Given the description of an element on the screen output the (x, y) to click on. 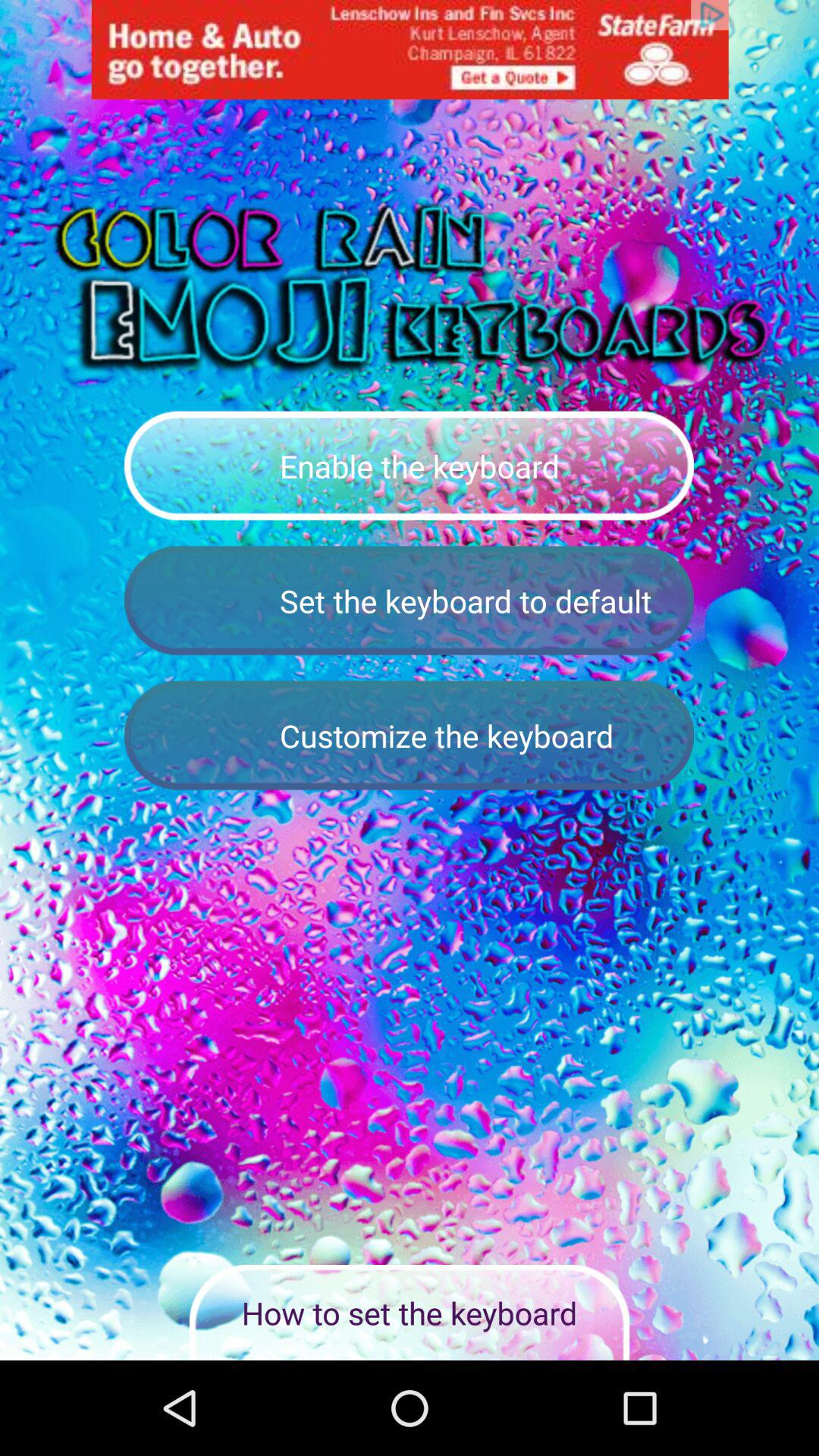
open advertisement (409, 49)
